Given the description of an element on the screen output the (x, y) to click on. 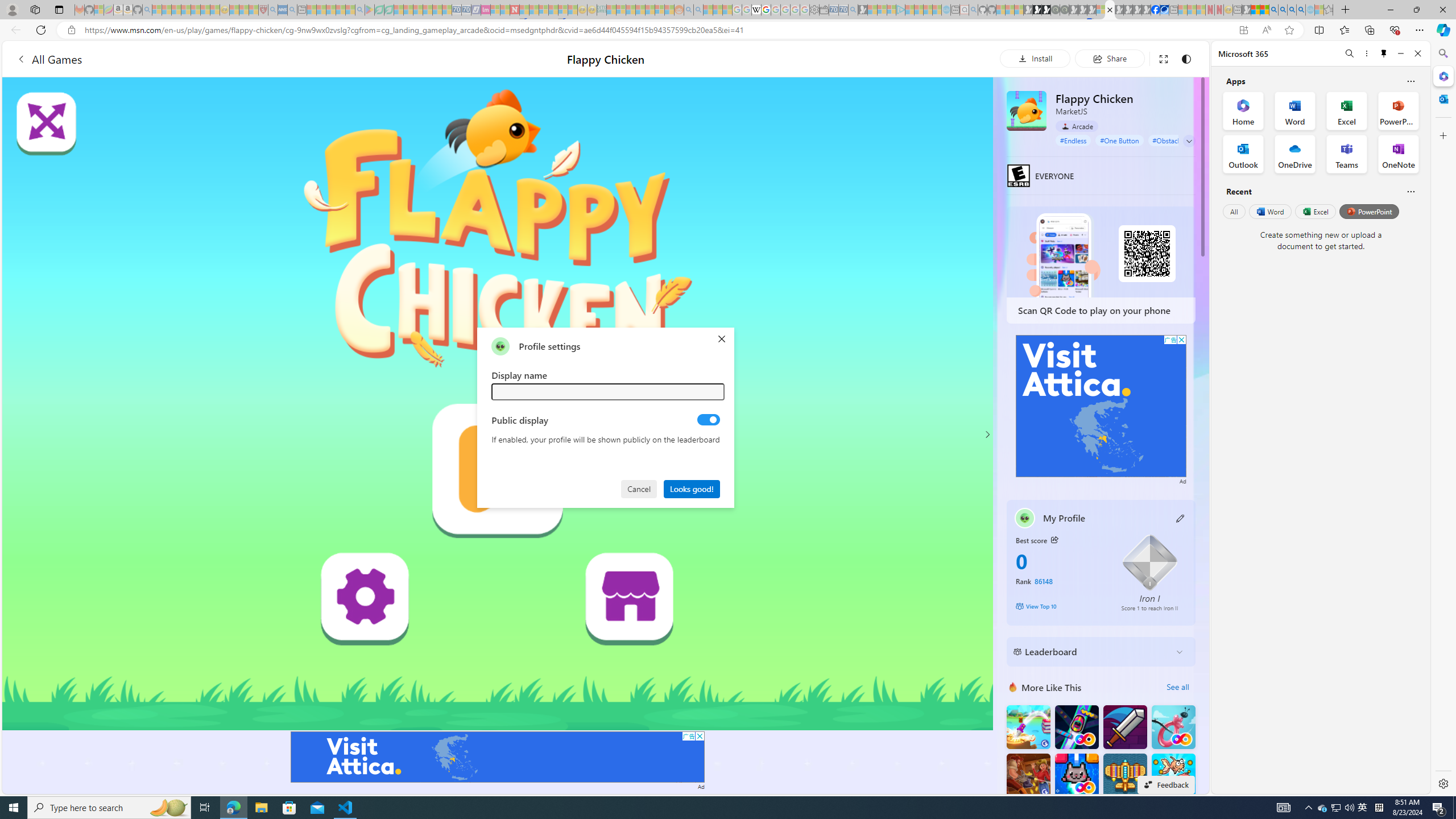
Home Office App (1243, 110)
Cheap Car Rentals - Save70.com - Sleeping (843, 9)
MSNBC - MSN - Sleeping (611, 9)
More options (1366, 53)
Unpin side pane (1383, 53)
Install (1034, 58)
2009 Bing officially replaced Live Search on June 3 - Search (1283, 9)
Expert Portfolios - Sleeping (639, 9)
Terms of Use Agreement - Sleeping (378, 9)
Personal Profile (12, 9)
